Given the description of an element on the screen output the (x, y) to click on. 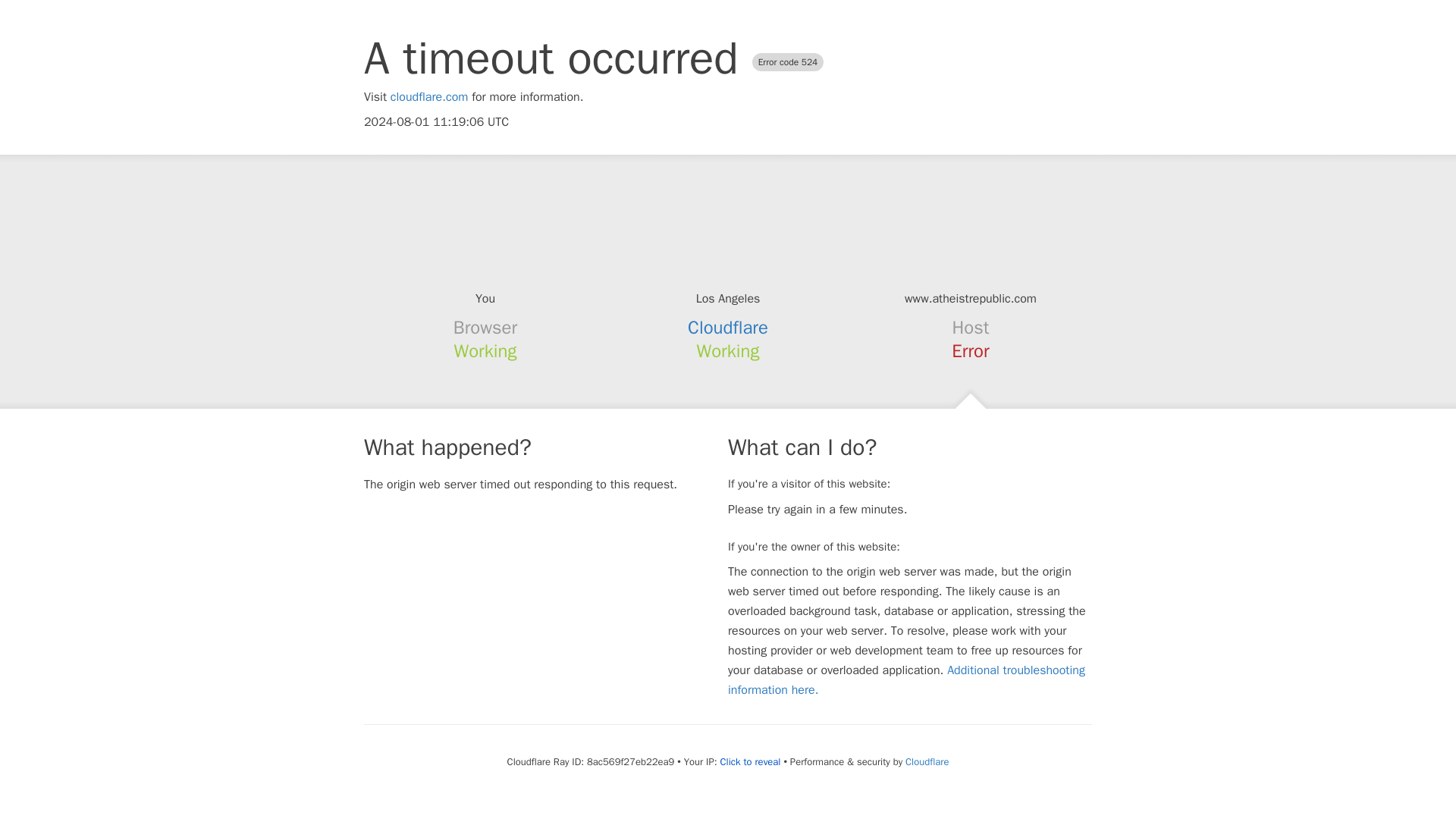
Cloudflare (927, 761)
Additional troubleshooting information here. (906, 679)
Cloudflare (727, 327)
cloudflare.com (429, 96)
Click to reveal (750, 762)
